Given the description of an element on the screen output the (x, y) to click on. 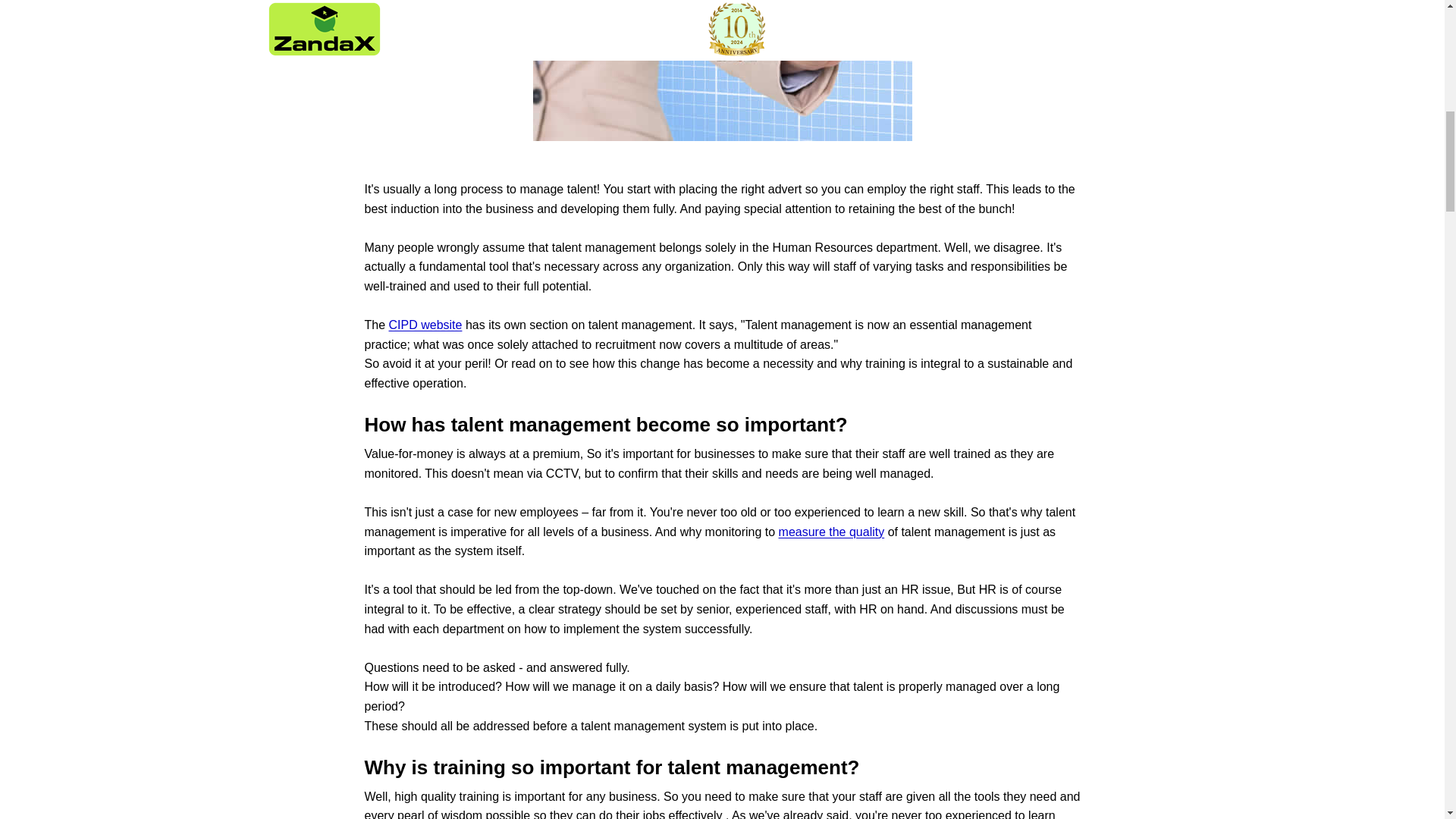
CIPD website (425, 324)
Talent management (425, 324)
measure the quality (831, 531)
How to Measure the Impact of Your Talent Management Programs (831, 531)
